Given the description of an element on the screen output the (x, y) to click on. 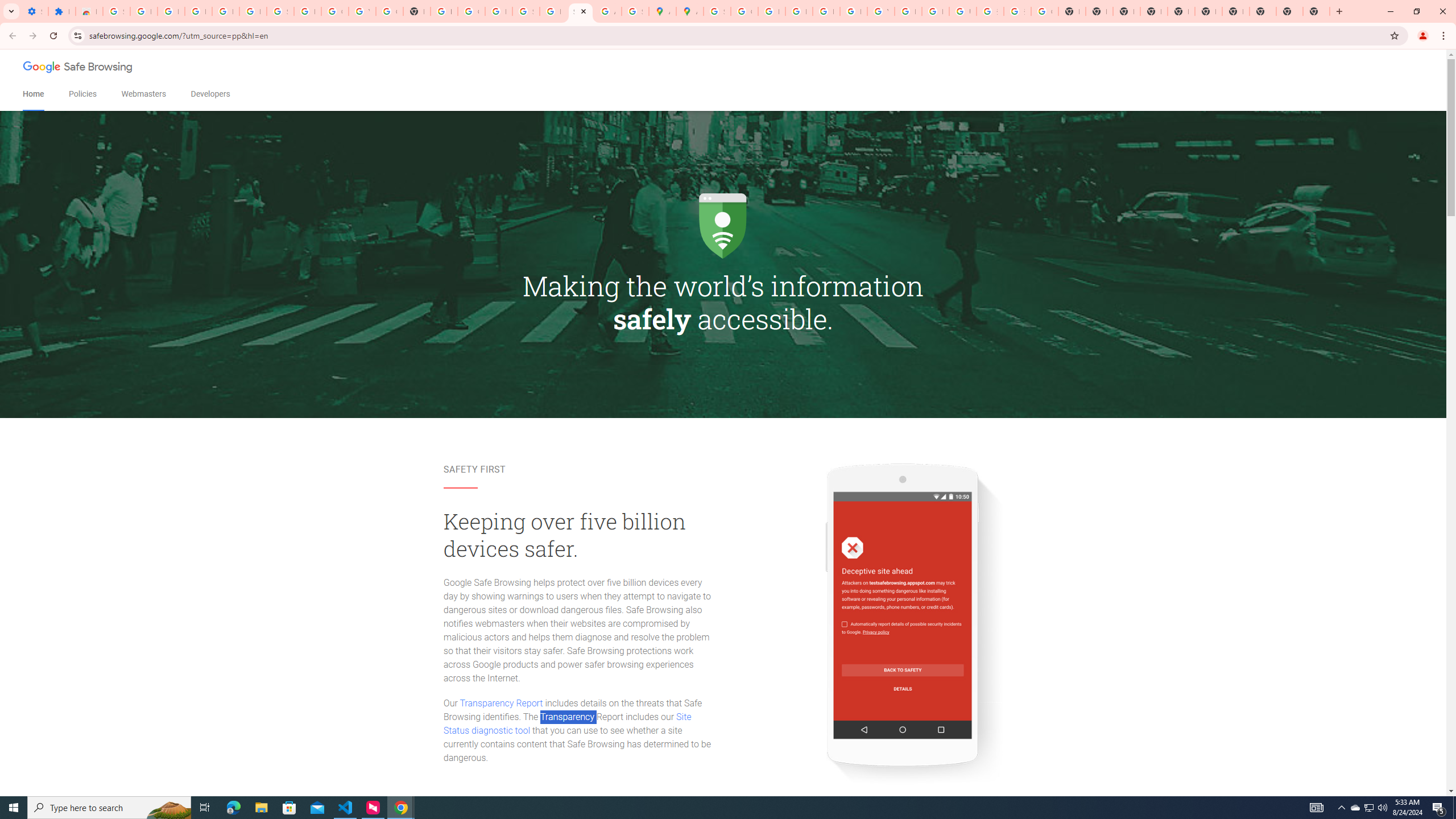
Transparency Report (501, 703)
Home (33, 94)
Safety in Our Products - Google Safety Center (634, 11)
Privacy Help Center - Policies Help (771, 11)
Sign in - Google Accounts (716, 11)
